Given the description of an element on the screen output the (x, y) to click on. 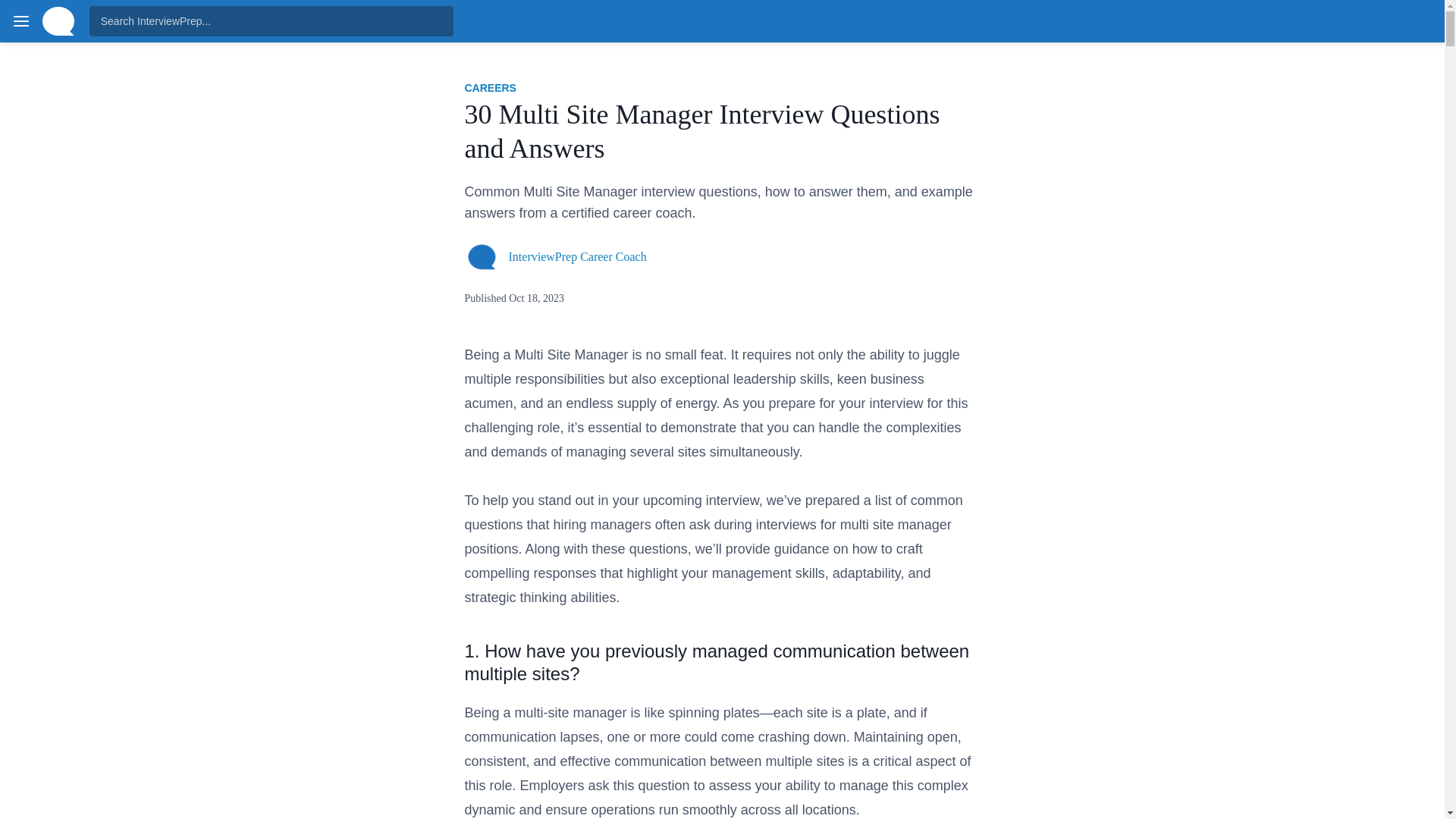
InterviewPrep Career Coach (577, 256)
CAREERS (489, 87)
